Given the description of an element on the screen output the (x, y) to click on. 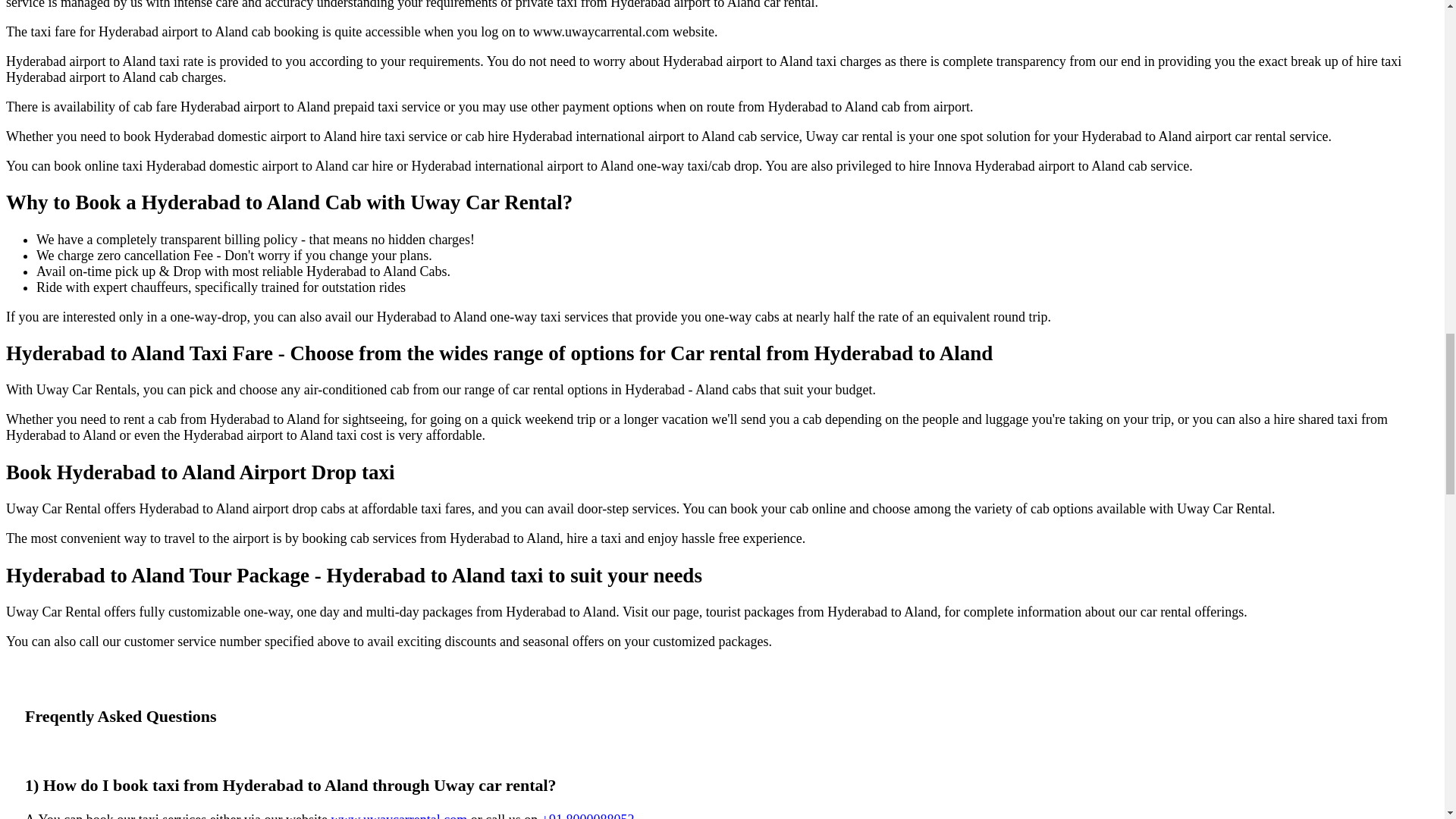
www.uwaycarrental.com (399, 815)
